Given the description of an element on the screen output the (x, y) to click on. 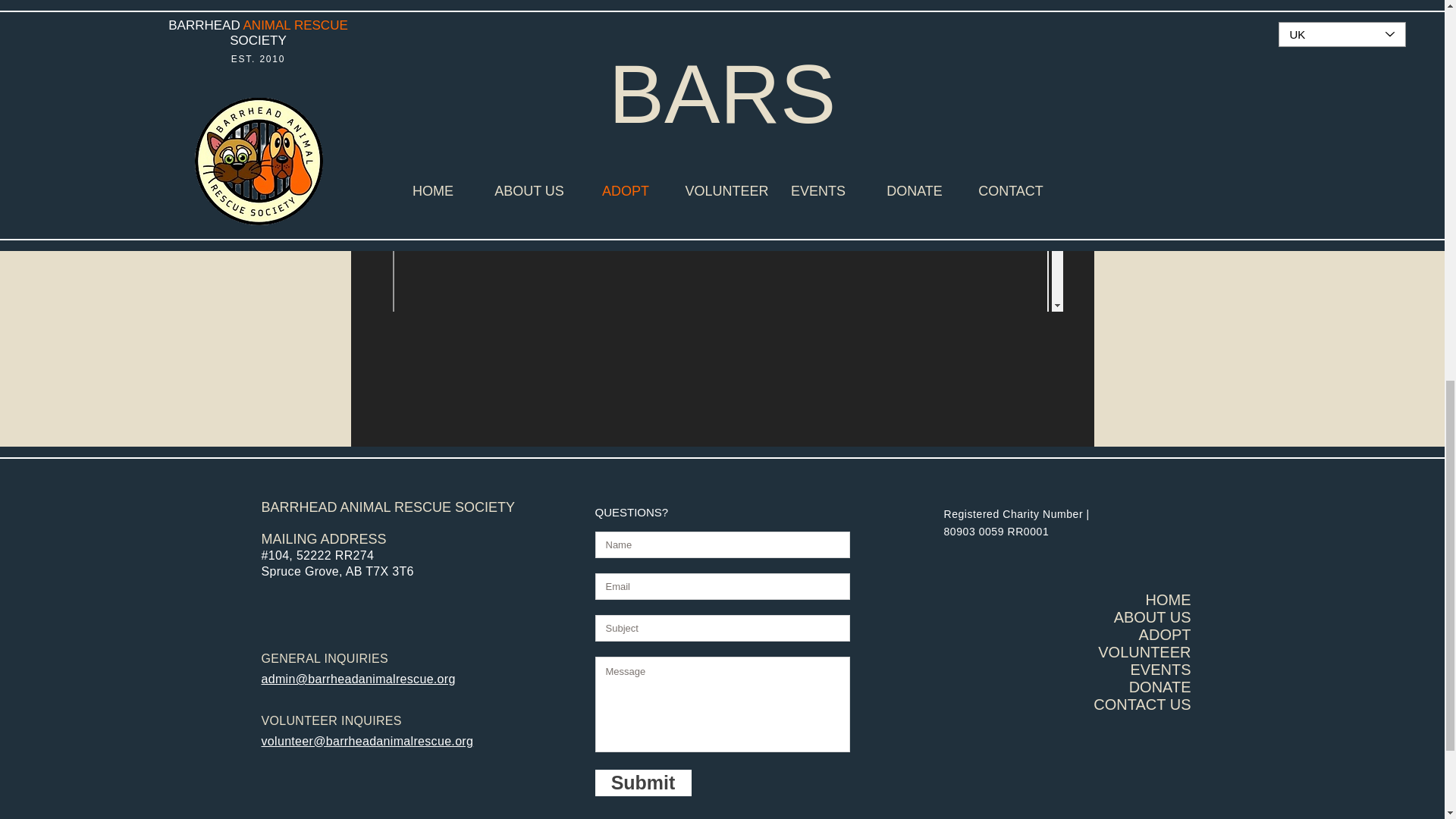
ADOPT (1164, 634)
CONTACT US (1142, 704)
VOLUNTEER (1144, 651)
EVENTS (1160, 669)
HOME (1167, 599)
ABOUT US (1152, 617)
DONATE (1160, 686)
Submit (642, 782)
